Given the description of an element on the screen output the (x, y) to click on. 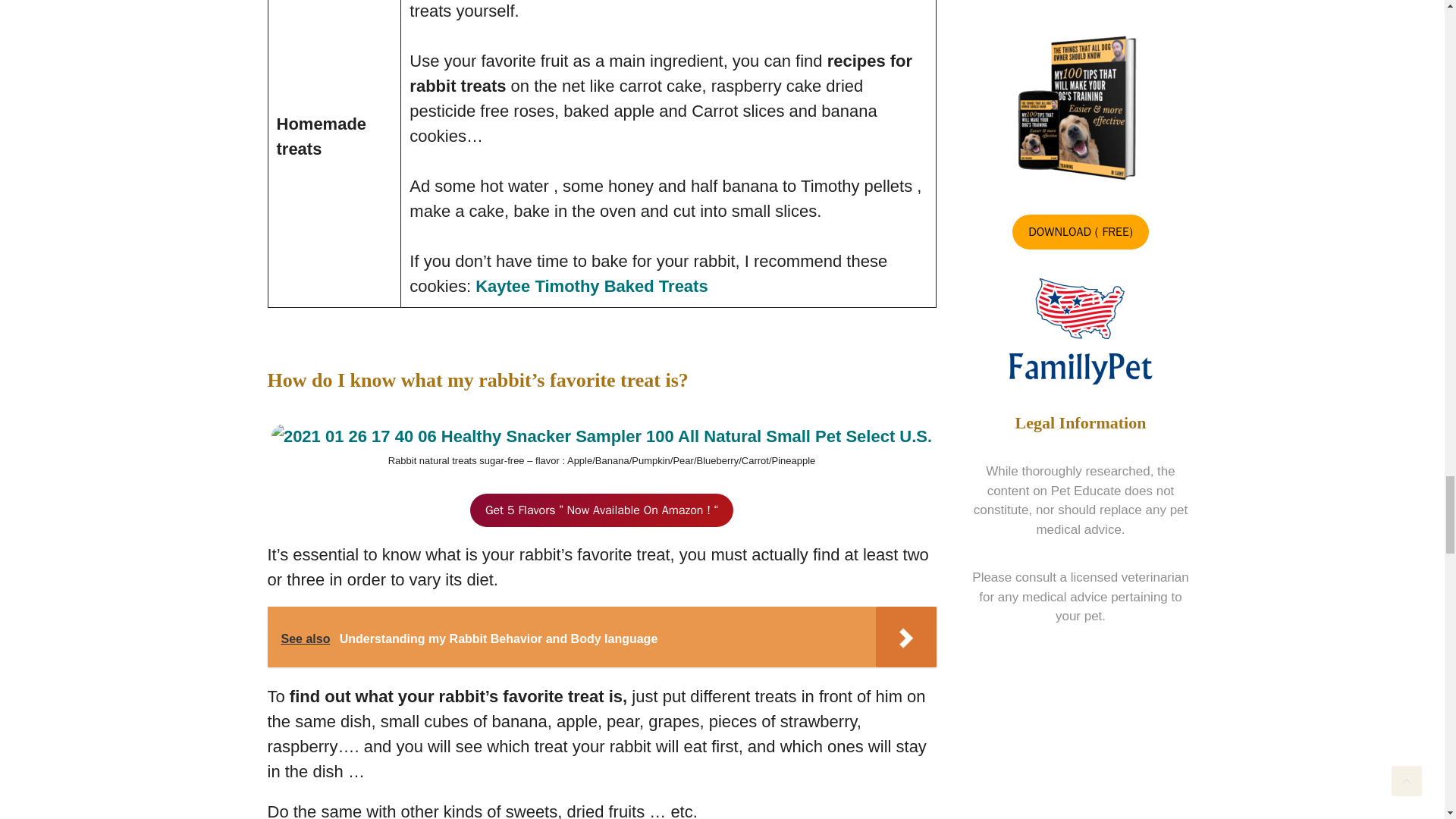
What are Rabbits Favorite Treats ? 4 (600, 436)
See also  Understanding my Rabbit Behavior and Body language (601, 636)
Kaytee Timothy Baked Treats (588, 285)
